Given the description of an element on the screen output the (x, y) to click on. 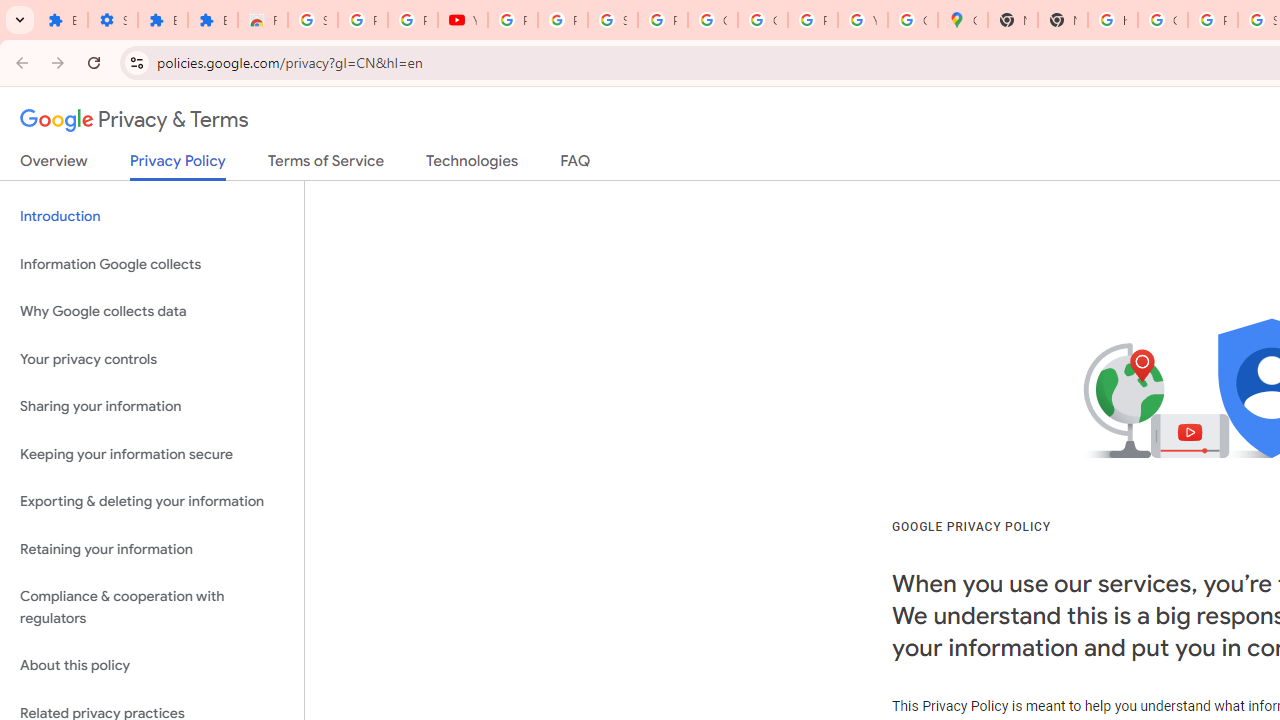
Sign in - Google Accounts (612, 20)
